Given the description of an element on the screen output the (x, y) to click on. 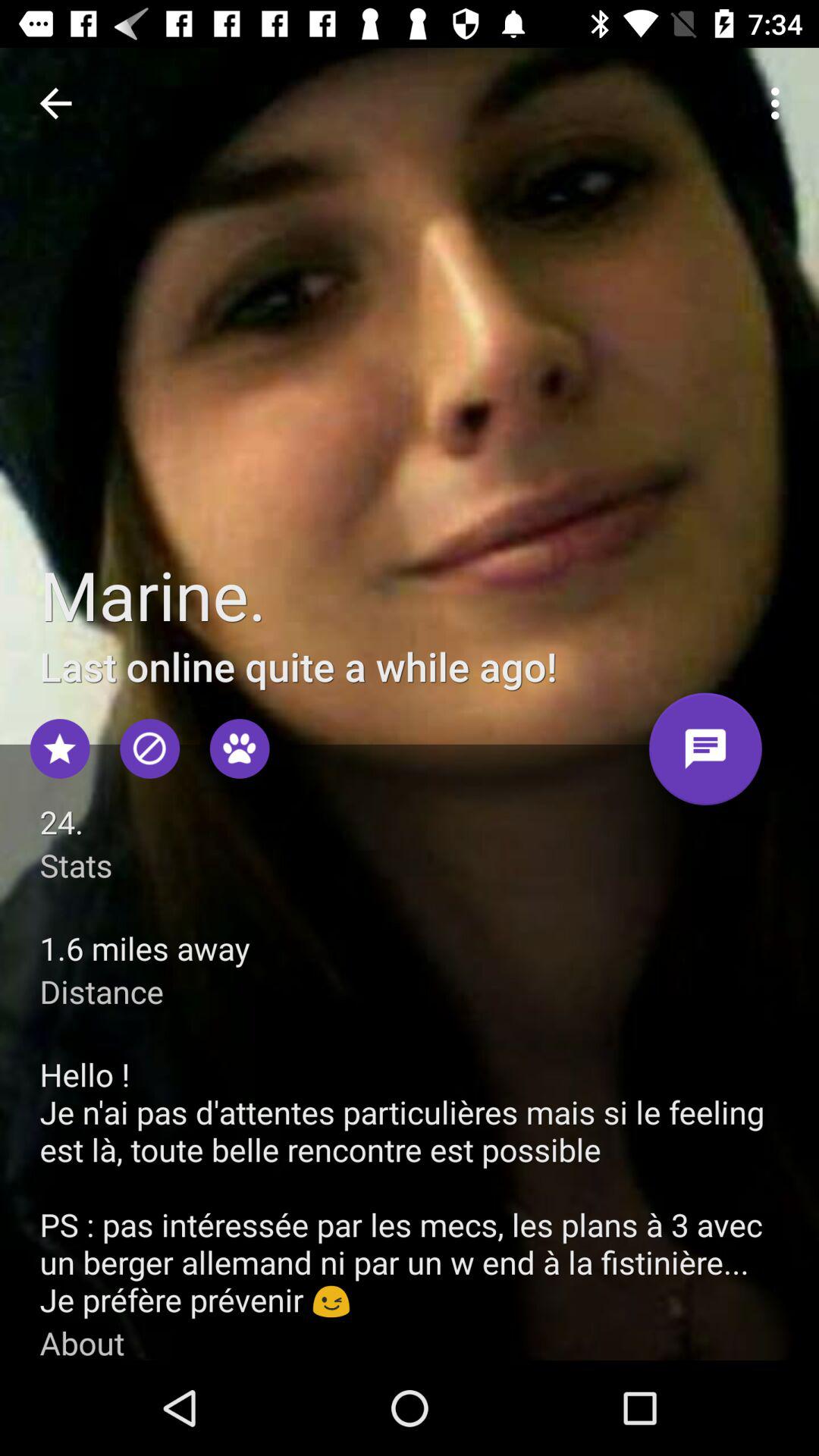
open text box (705, 754)
